Given the description of an element on the screen output the (x, y) to click on. 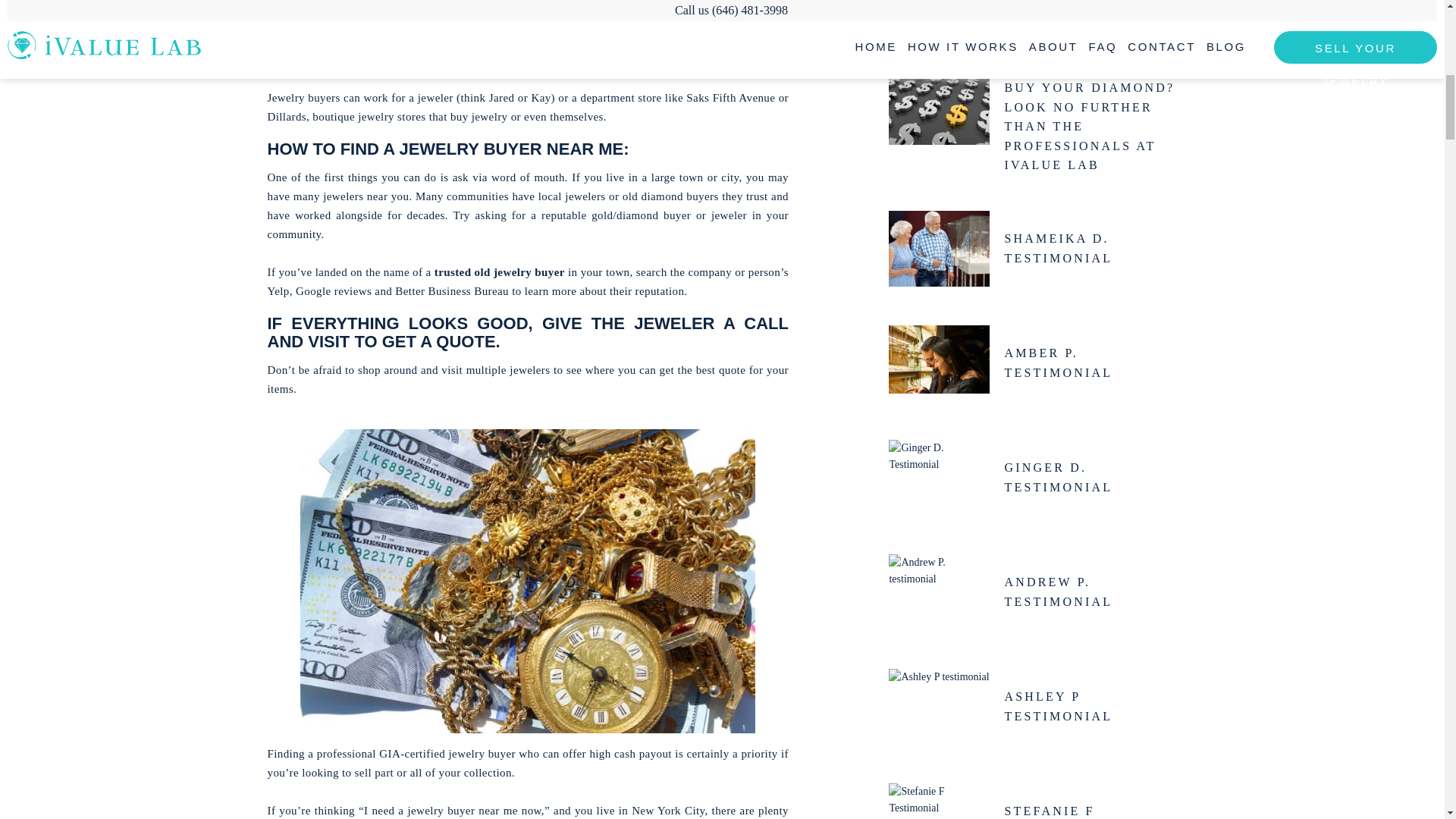
Continue reading "Andrew P. testimonial" (939, 592)
Continue reading "Ashley P testimonial" (939, 706)
SHAMEIKA D. TESTIMONIAL (1090, 248)
Continue reading "Stefanie F Testimonial" (939, 799)
GINGER D. TESTIMONIAL (1090, 476)
Continue reading "Shameika D. Testimonial" (939, 248)
AMBER P. TESTIMONIAL (1090, 362)
Continue reading "Amber P. Testimonial" (939, 363)
trusted old jewelry buyer (498, 272)
Continue reading "Ginger D. Testimonial" (939, 477)
